Given the description of an element on the screen output the (x, y) to click on. 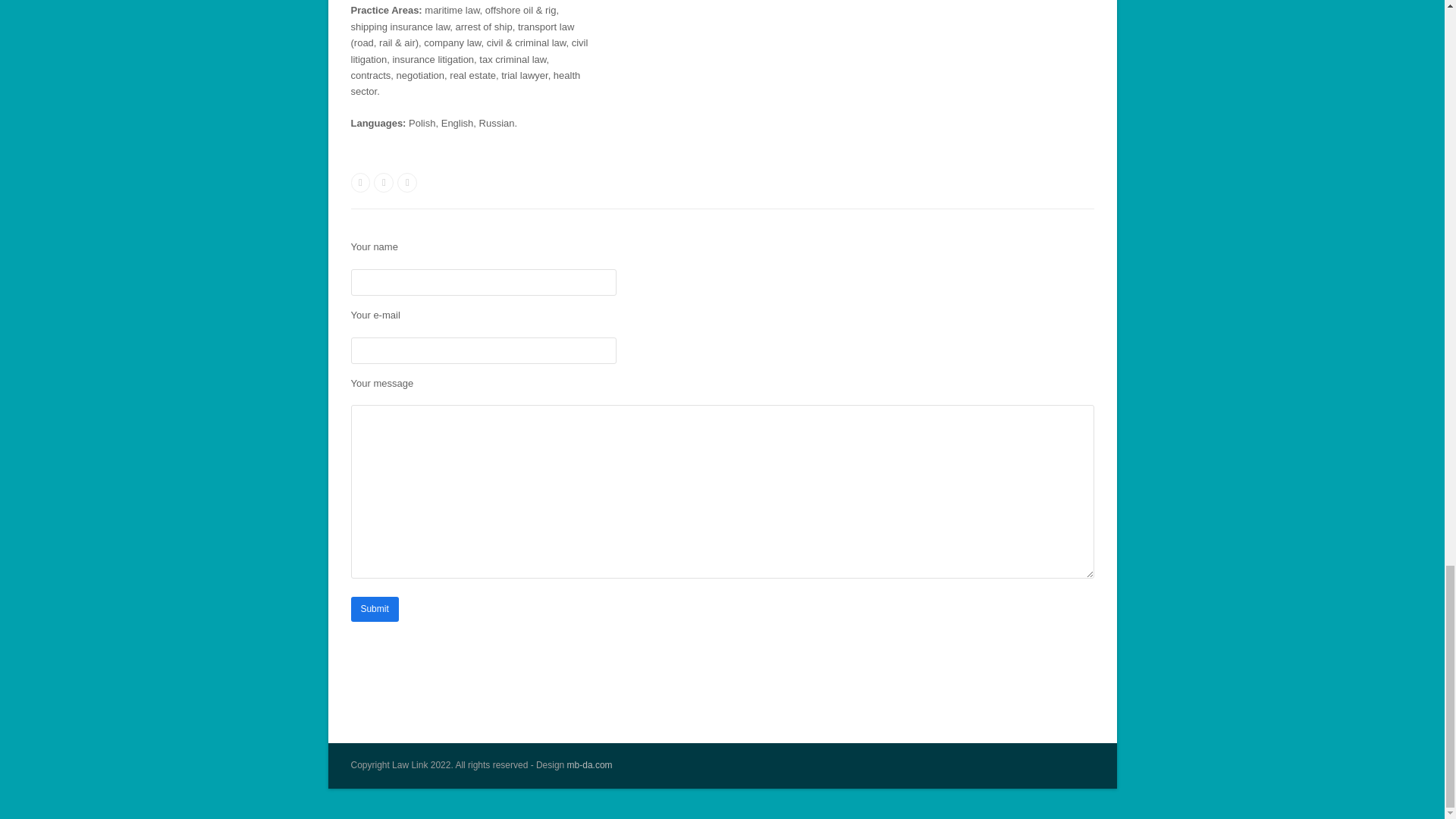
Submit (373, 609)
